Given the description of an element on the screen output the (x, y) to click on. 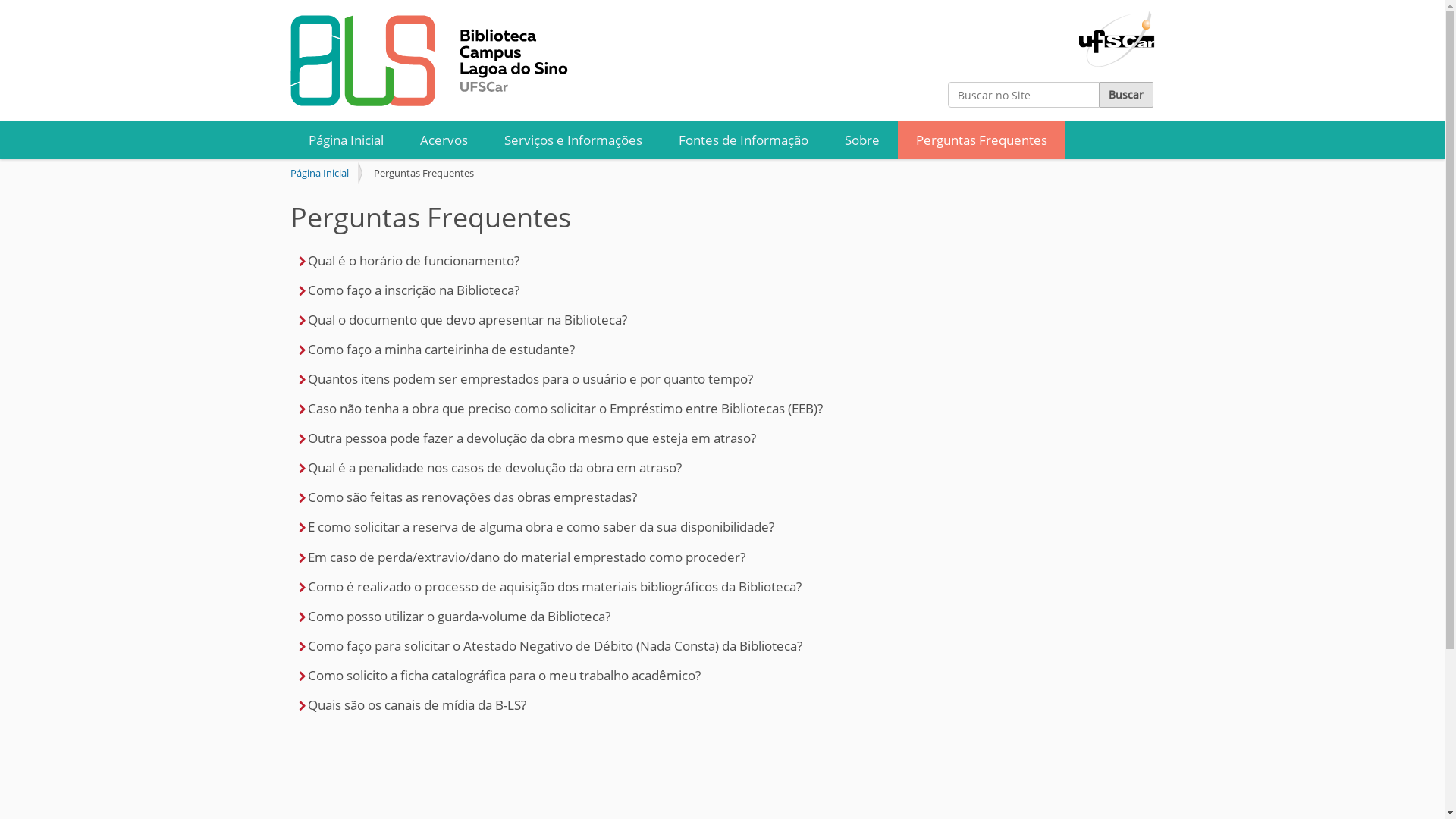
Buscar Element type: text (1125, 94)
Acervos Element type: text (443, 140)
Perguntas Frequentes Element type: text (981, 140)
Buscar no Site Element type: hover (1023, 94)
Sobre Element type: text (861, 140)
Portal UFSCar Element type: hover (1116, 31)
